Given the description of an element on the screen output the (x, y) to click on. 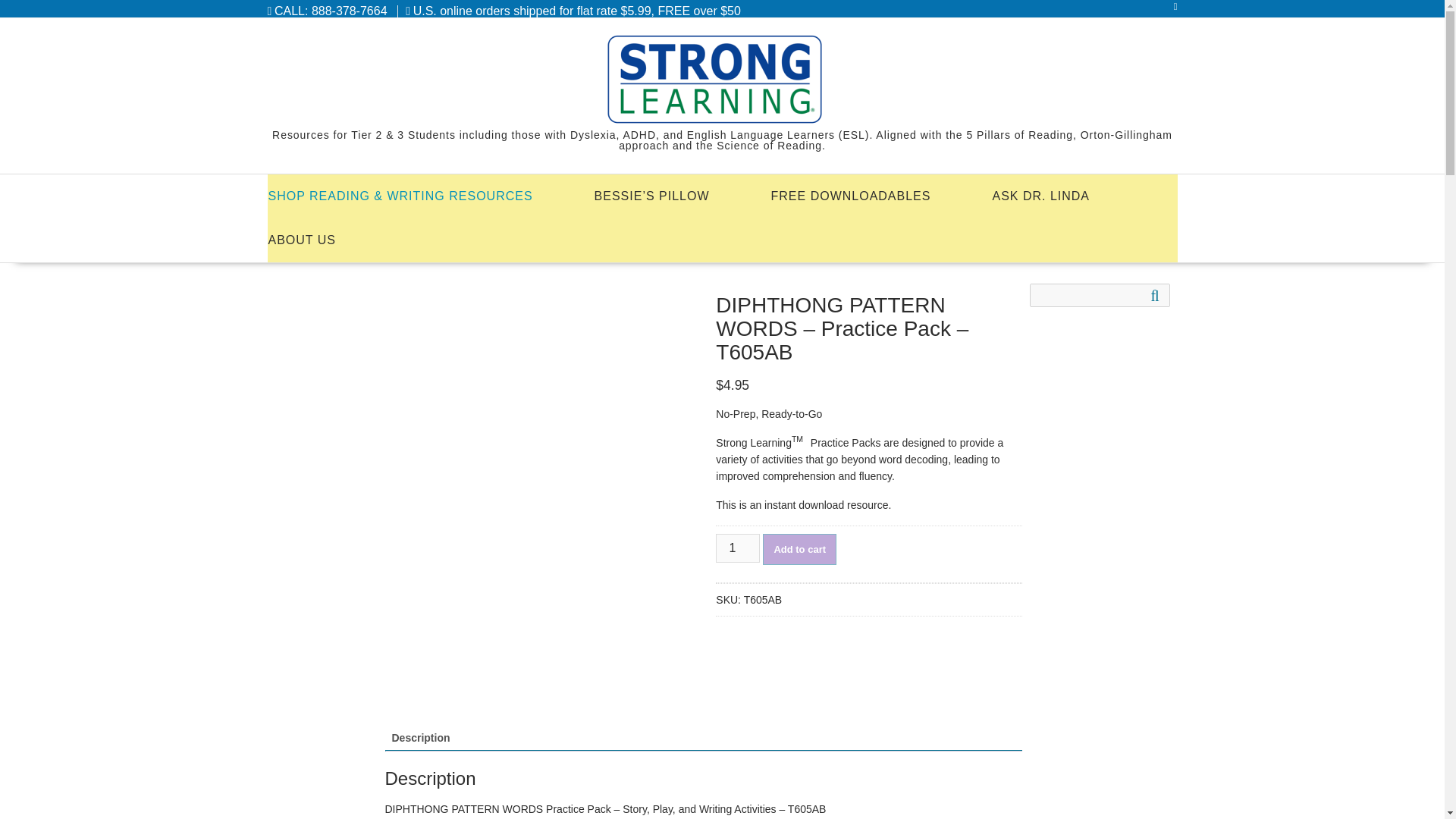
Description (420, 737)
1 (738, 547)
ASK DR. LINDA (1039, 196)
FREE DOWNLOADABLES (850, 196)
ABOUT US (301, 240)
Add to cart (798, 549)
